Given the description of an element on the screen output the (x, y) to click on. 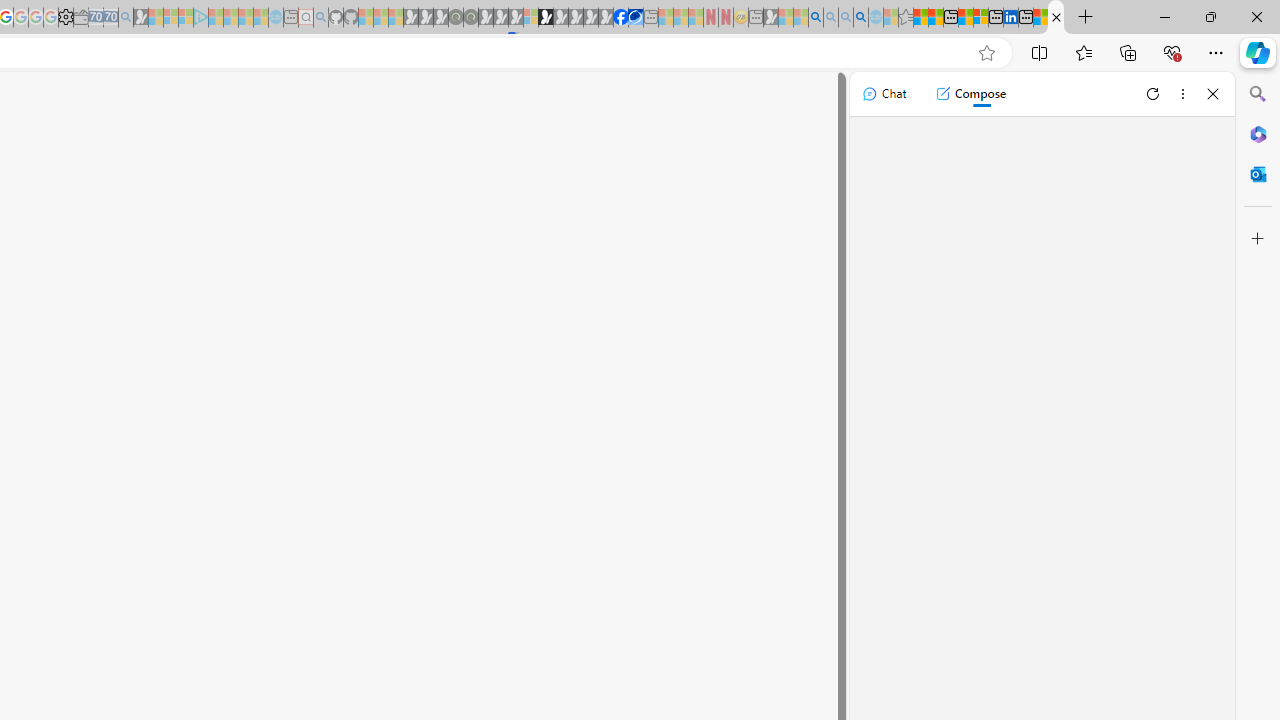
Bing AI - Search (816, 17)
github - Search - Sleeping (320, 17)
Chat (884, 93)
MSN - Sleeping (771, 17)
